Given the description of an element on the screen output the (x, y) to click on. 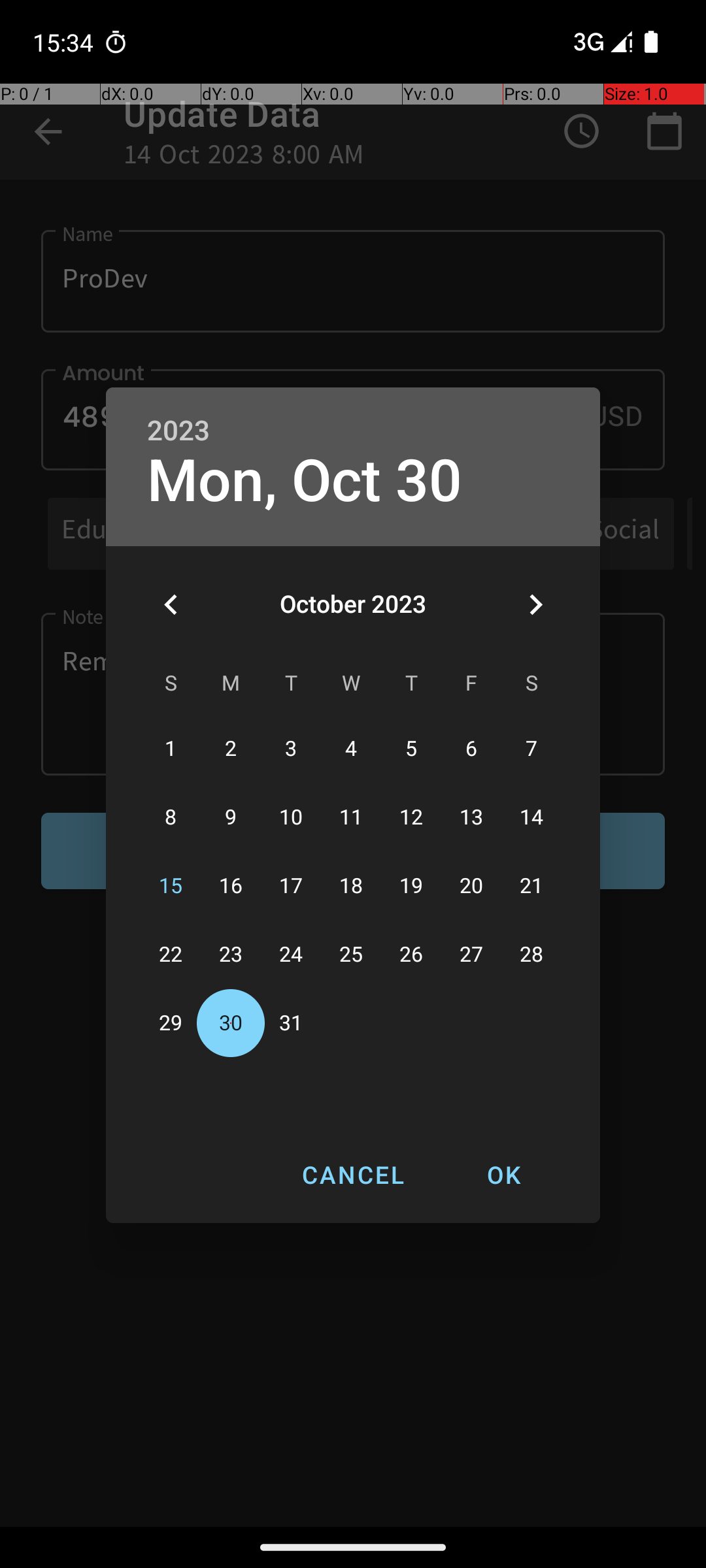
Mon, Oct 30 Element type: android.widget.TextView (304, 480)
